Given the description of an element on the screen output the (x, y) to click on. 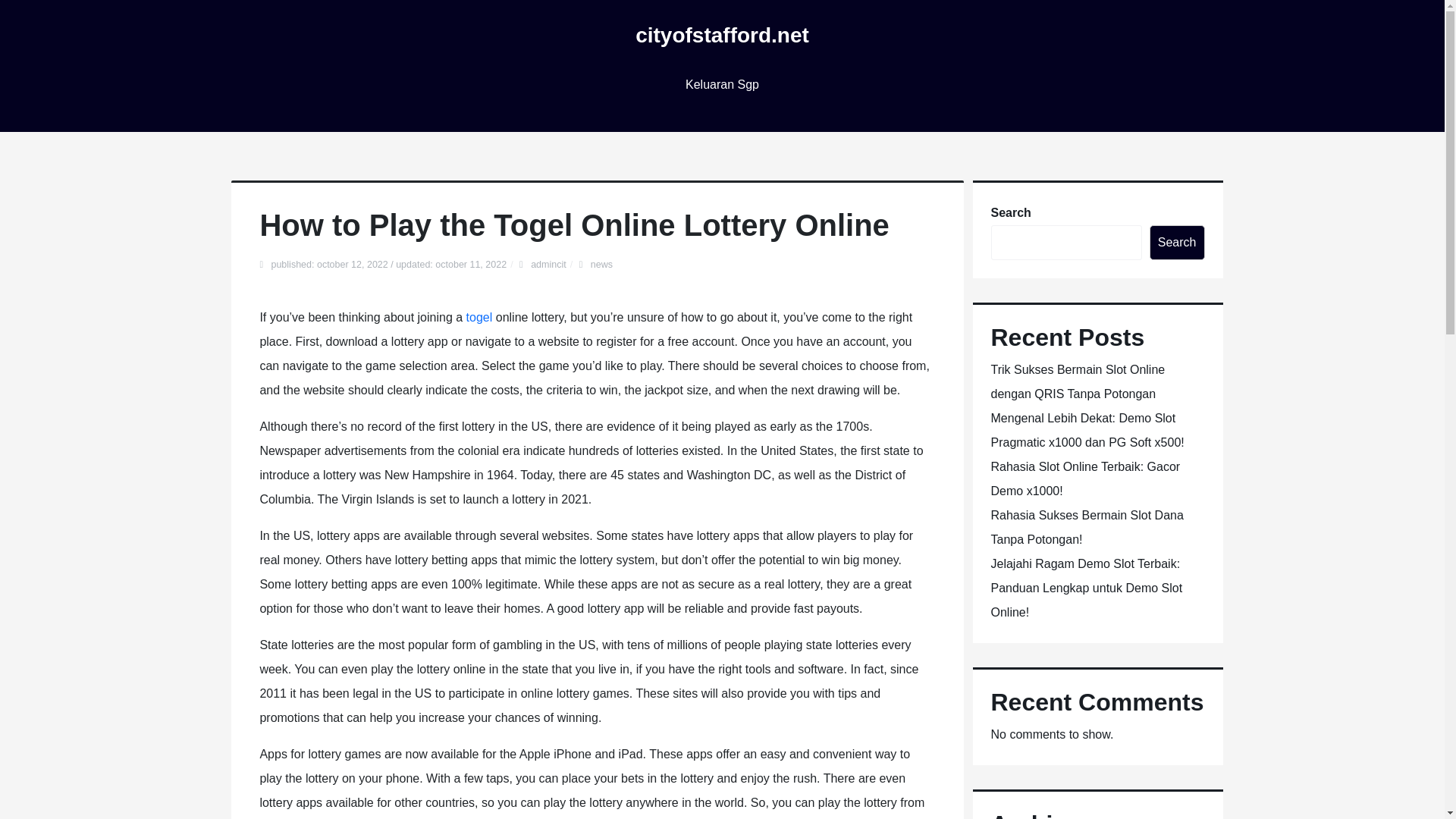
cityofstafford.net (721, 34)
togel (479, 317)
Rahasia Slot Online Terbaik: Gacor Demo x1000! (1084, 478)
Search (1177, 242)
Keluaran Sgp (722, 84)
admincit (548, 264)
news (601, 264)
Rahasia Sukses Bermain Slot Dana Tanpa Potongan! (1086, 527)
Trik Sukses Bermain Slot Online dengan QRIS Tanpa Potongan (1077, 381)
Keluaran Sgp (722, 84)
